Given the description of an element on the screen output the (x, y) to click on. 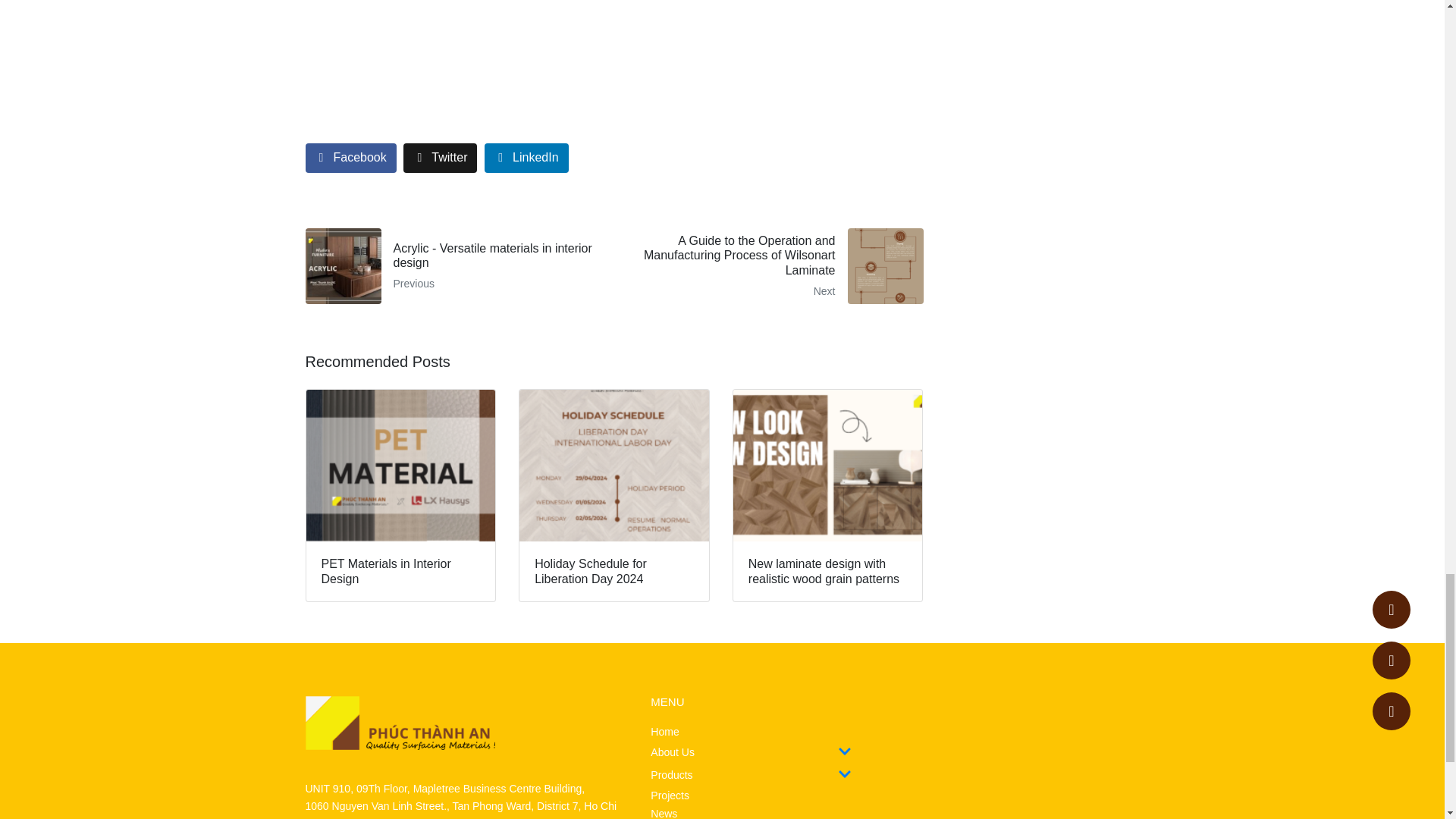
Acrylic - Versatile materials in interior design (454, 265)
